Given the description of an element on the screen output the (x, y) to click on. 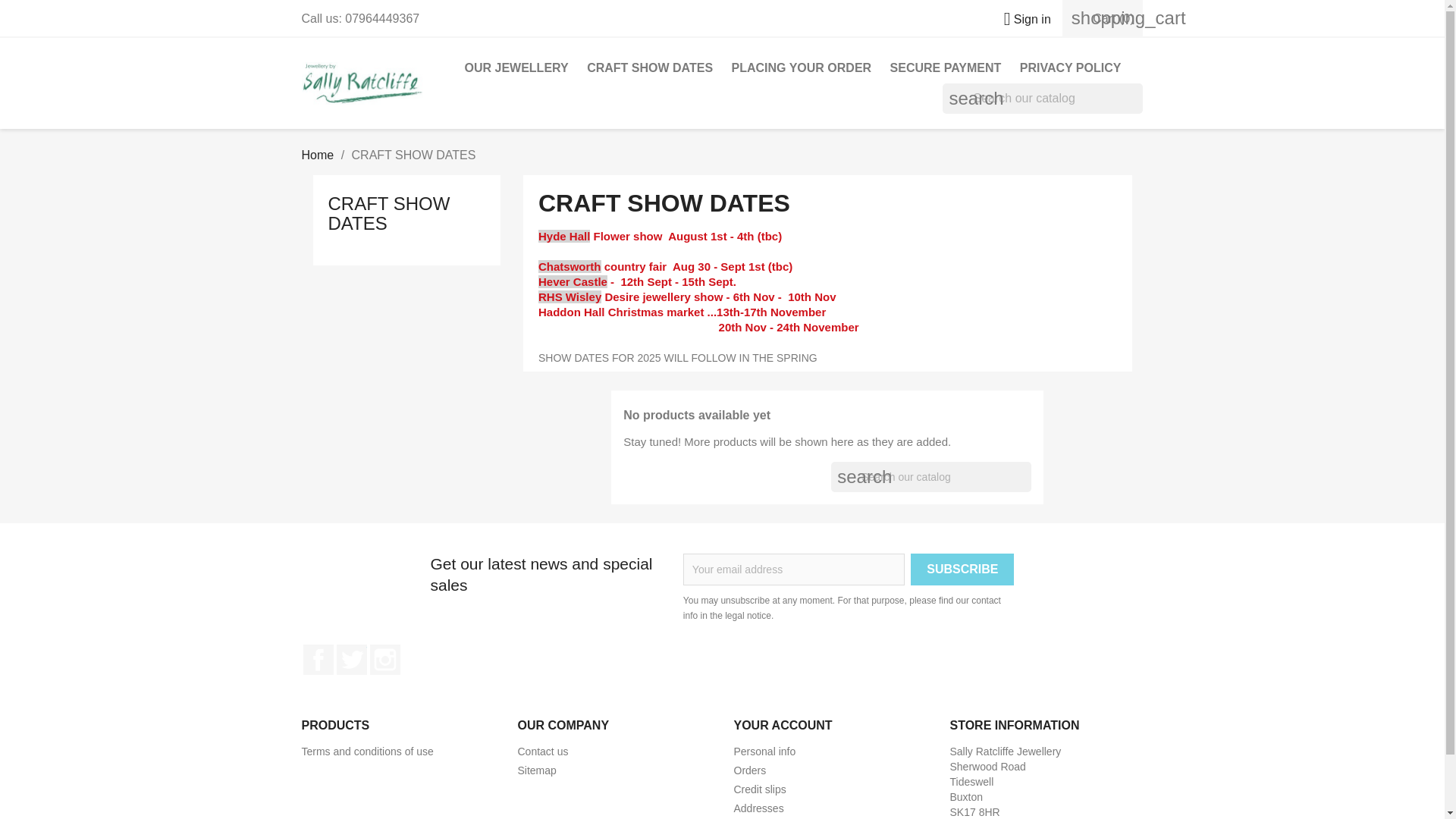
Instagram (384, 659)
Subscribe (962, 569)
Personal info (764, 751)
Orders (750, 770)
Use our form to contact us (541, 751)
Our terms and conditions of use (367, 751)
Lost ? Find what your are looking for (536, 770)
Home (317, 154)
CRAFT SHOW DATES (388, 213)
SECURE PAYMENT (945, 68)
Subscribe (962, 569)
OUR JEWELLERY (516, 68)
YOUR ACCOUNT (782, 725)
Terms and conditions of use (367, 751)
Addresses (758, 808)
